Given the description of an element on the screen output the (x, y) to click on. 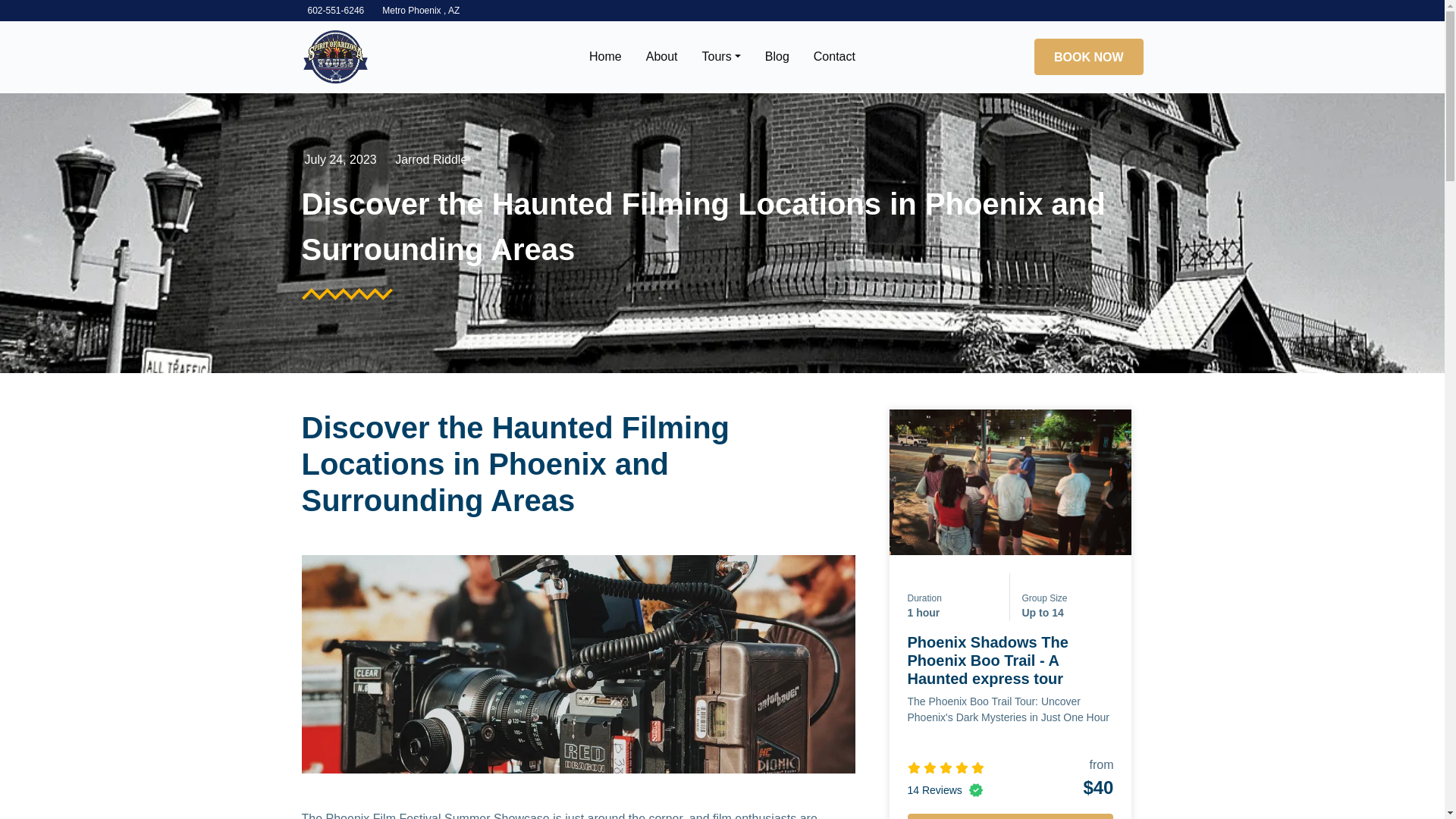
Metro Phoenix , AZ (420, 9)
About (661, 56)
Blog (777, 56)
Gondola (335, 56)
BOOK NOW (1087, 56)
Contact (834, 56)
602-551-6246 (336, 9)
Tours (721, 56)
Google Maps (420, 9)
Book Now (1087, 56)
